Given the description of an element on the screen output the (x, y) to click on. 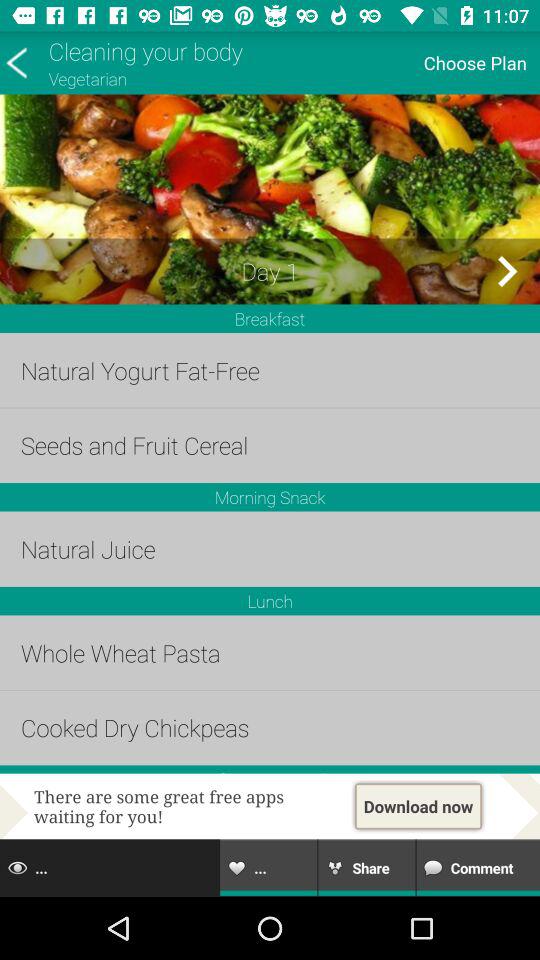
go to next (506, 271)
